Given the description of an element on the screen output the (x, y) to click on. 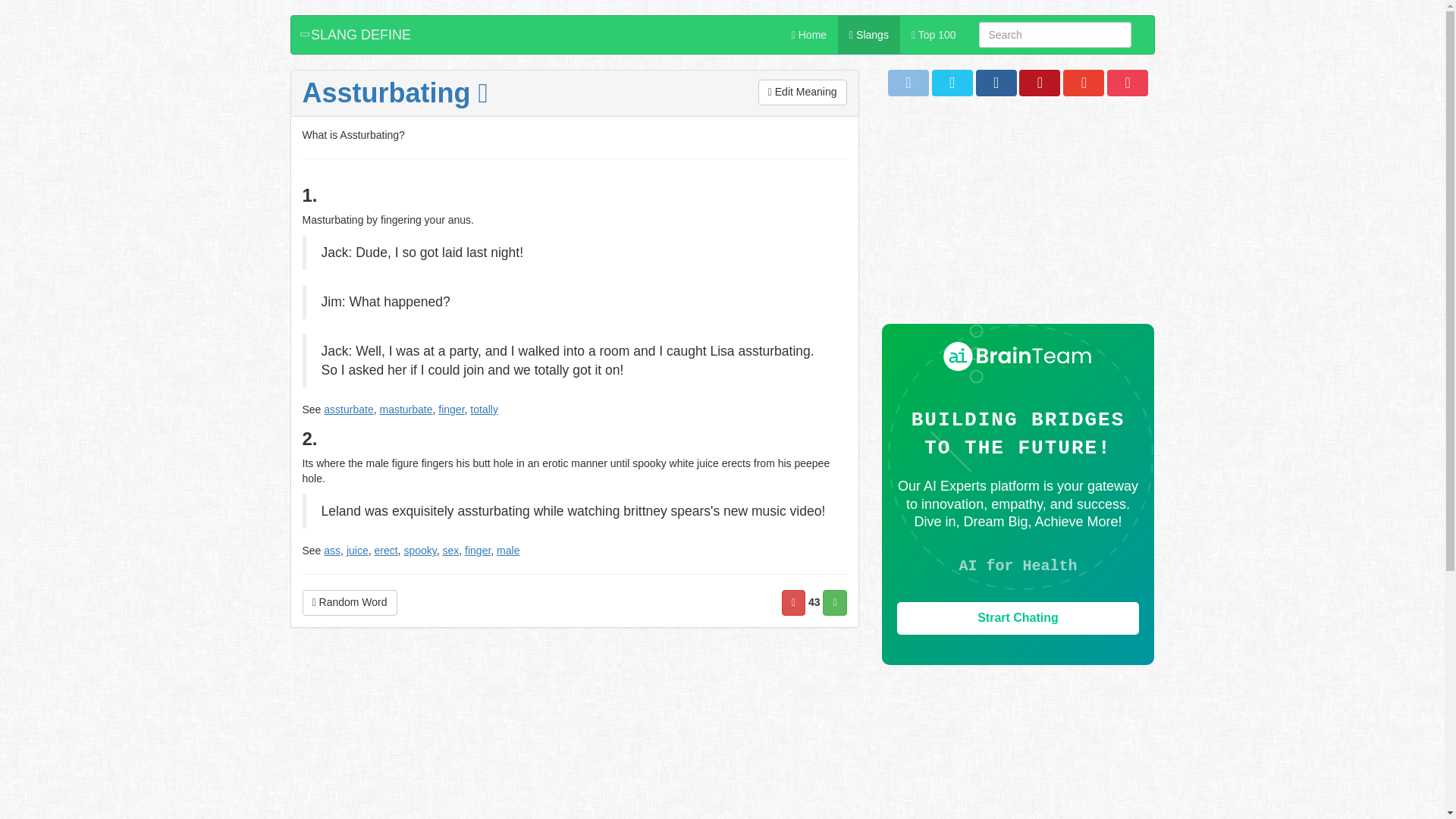
Strart Chating (1017, 617)
Assturbating (394, 92)
Advertisement (1017, 217)
Home (809, 34)
Edit Meaning (802, 92)
SLANG DEFINE (357, 34)
Random Word (348, 602)
Top 100 (933, 34)
Advertisement (574, 738)
Slangs (868, 34)
